Given the description of an element on the screen output the (x, y) to click on. 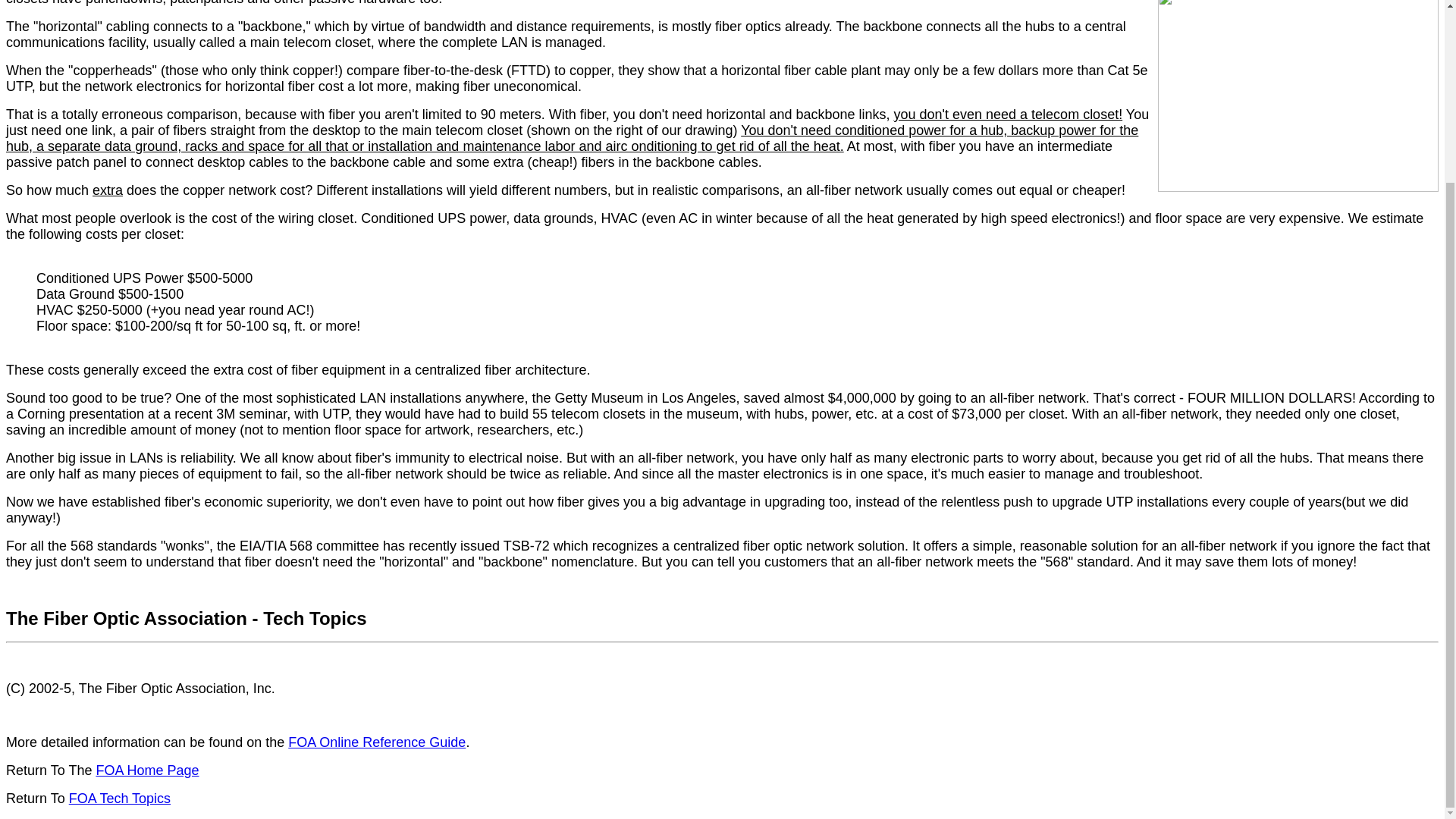
FOA Home Page (147, 770)
FOA Tech Topics (119, 798)
FOA Online Reference Guide (376, 742)
